Given the description of an element on the screen output the (x, y) to click on. 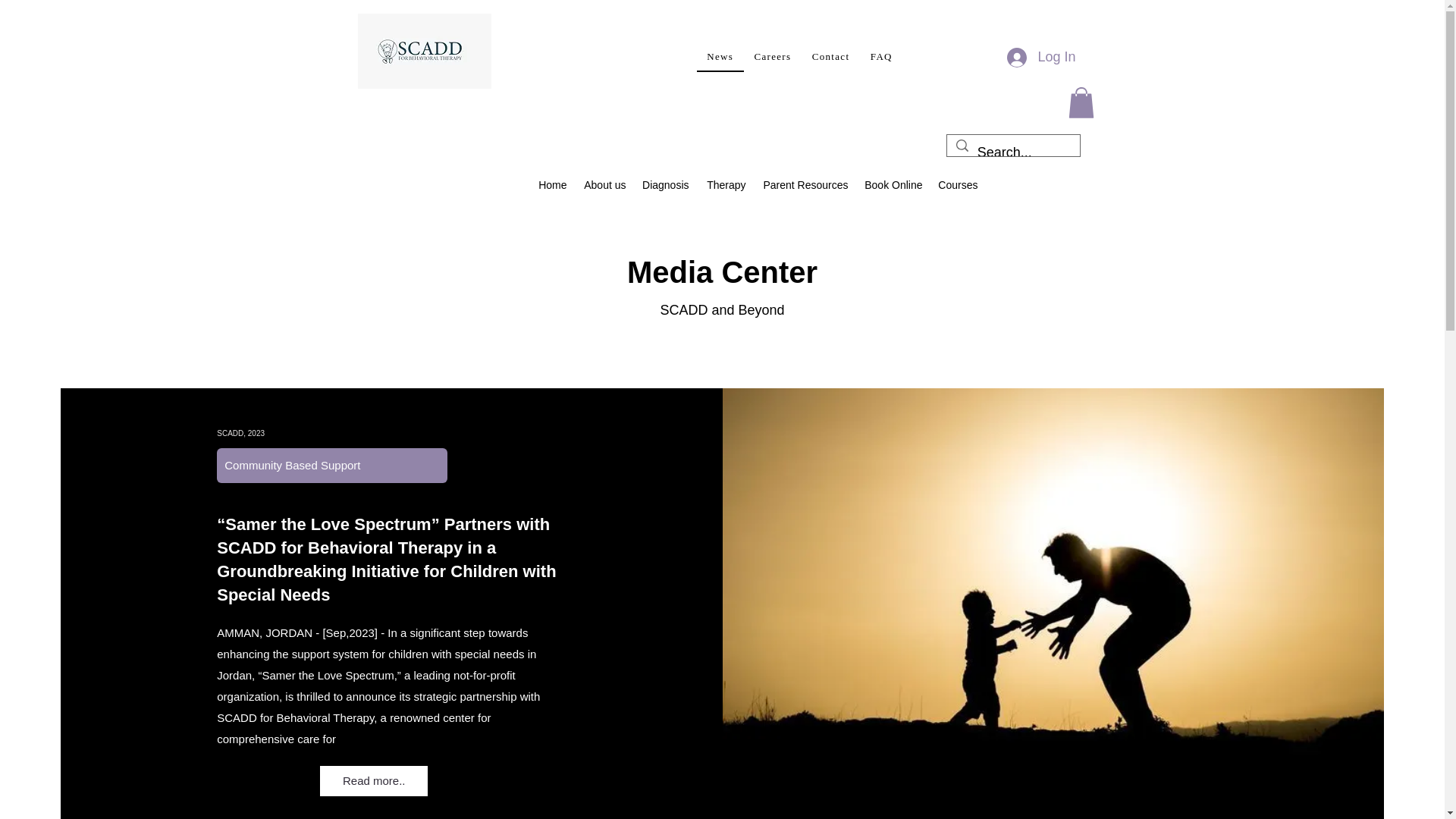
Diagnosis (665, 184)
Contact (831, 57)
Parent Resources (805, 184)
FAQ (881, 57)
Careers (773, 57)
image-1238x1000.jpg (425, 50)
About us (604, 184)
Read more.. (374, 780)
News (718, 57)
Book Online (893, 184)
